Given the description of an element on the screen output the (x, y) to click on. 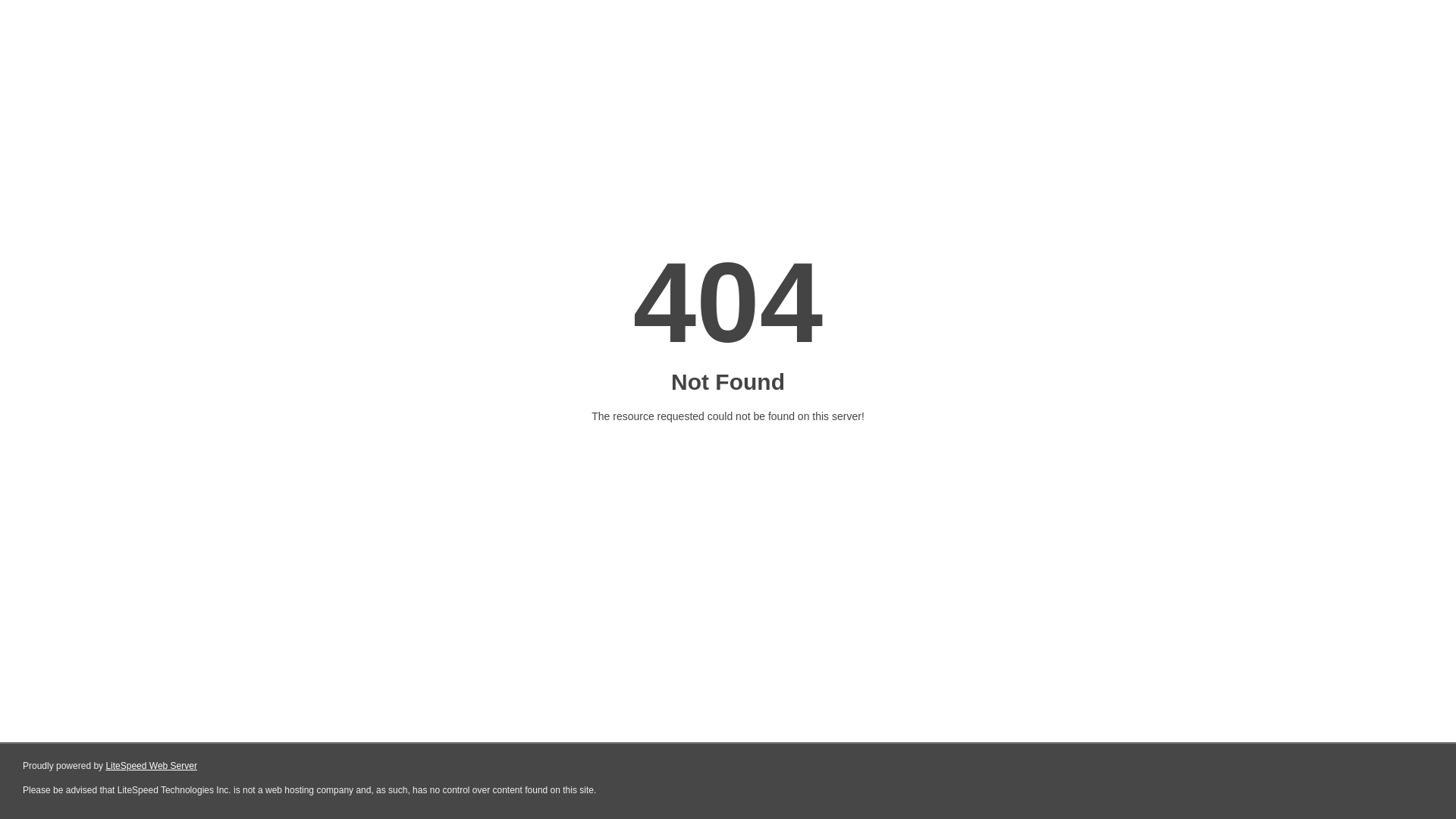
LiteSpeed Web Server Element type: text (151, 765)
